Given the description of an element on the screen output the (x, y) to click on. 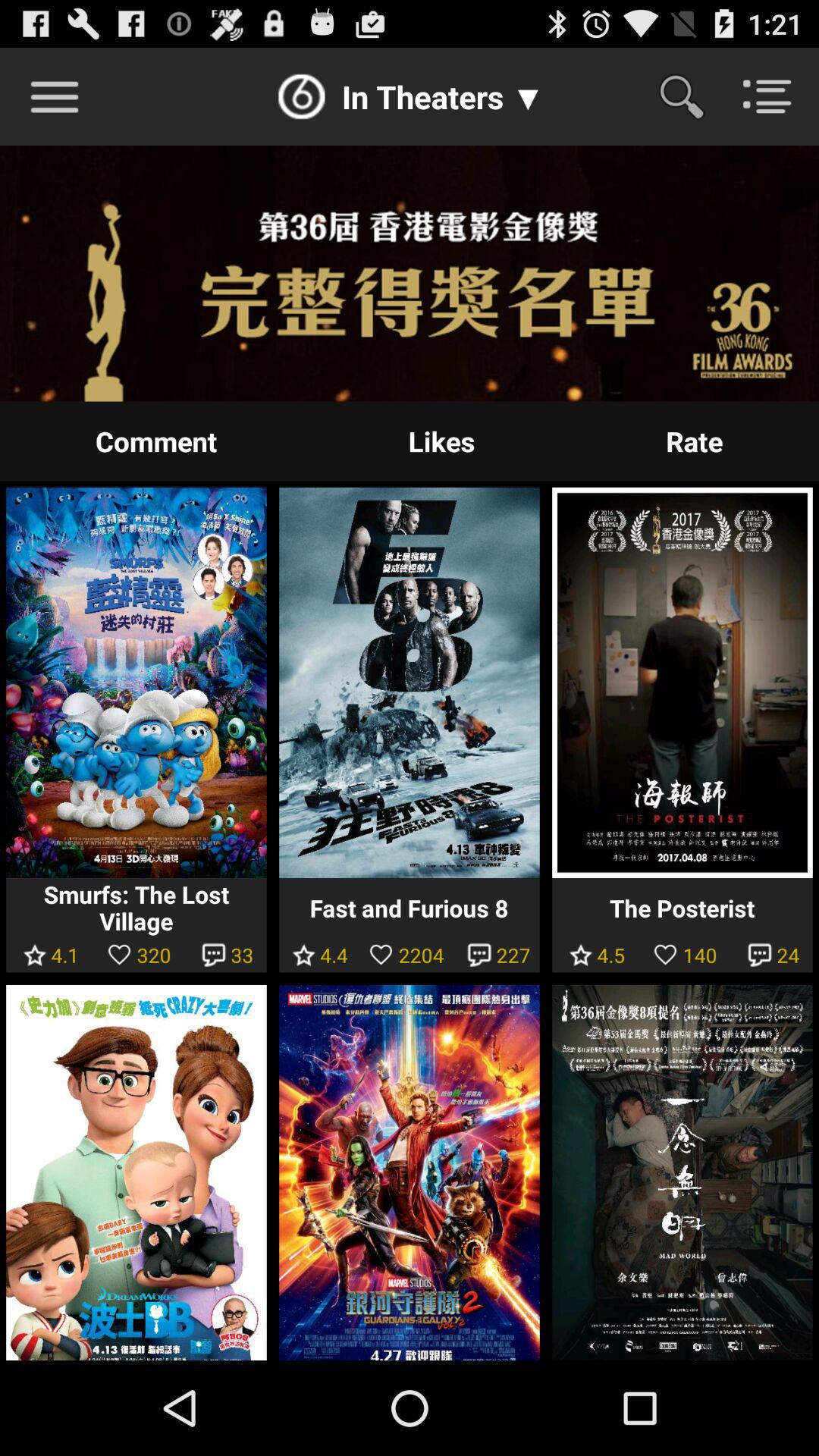
select the option below rate (682, 682)
click on the middle text above the movie f8 (441, 441)
click on last option above the the posterist (693, 441)
select more options button to the top left side (55, 96)
